Given the description of an element on the screen output the (x, y) to click on. 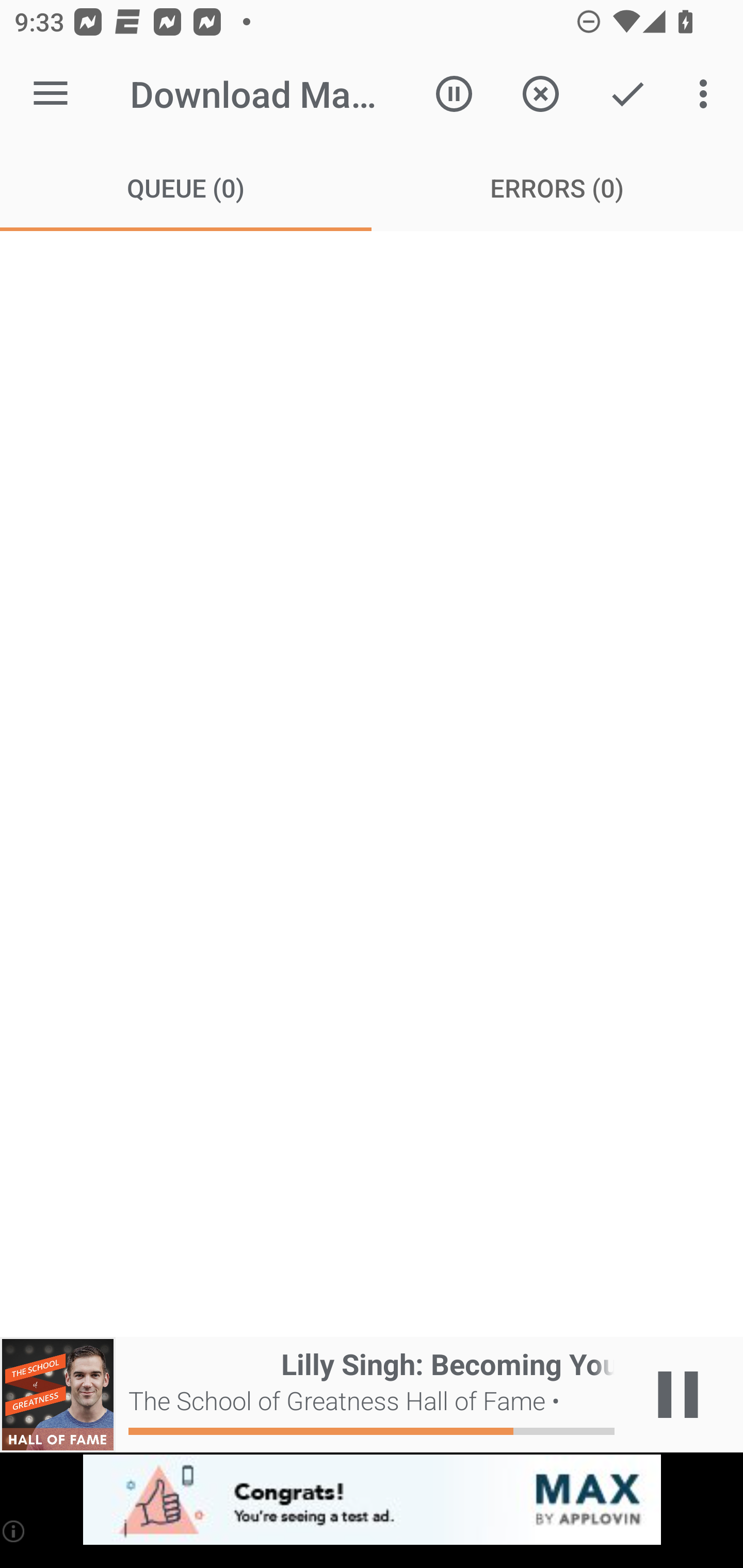
Open navigation sidebar (50, 93)
Pause downloads... (453, 93)
Cancel Downloads (540, 93)
Action Mode (626, 93)
More options (706, 93)
Errors (0) ERRORS (0) (557, 187)
Play / Pause (677, 1394)
app-monetization (371, 1500)
(i) (14, 1531)
